Given the description of an element on the screen output the (x, y) to click on. 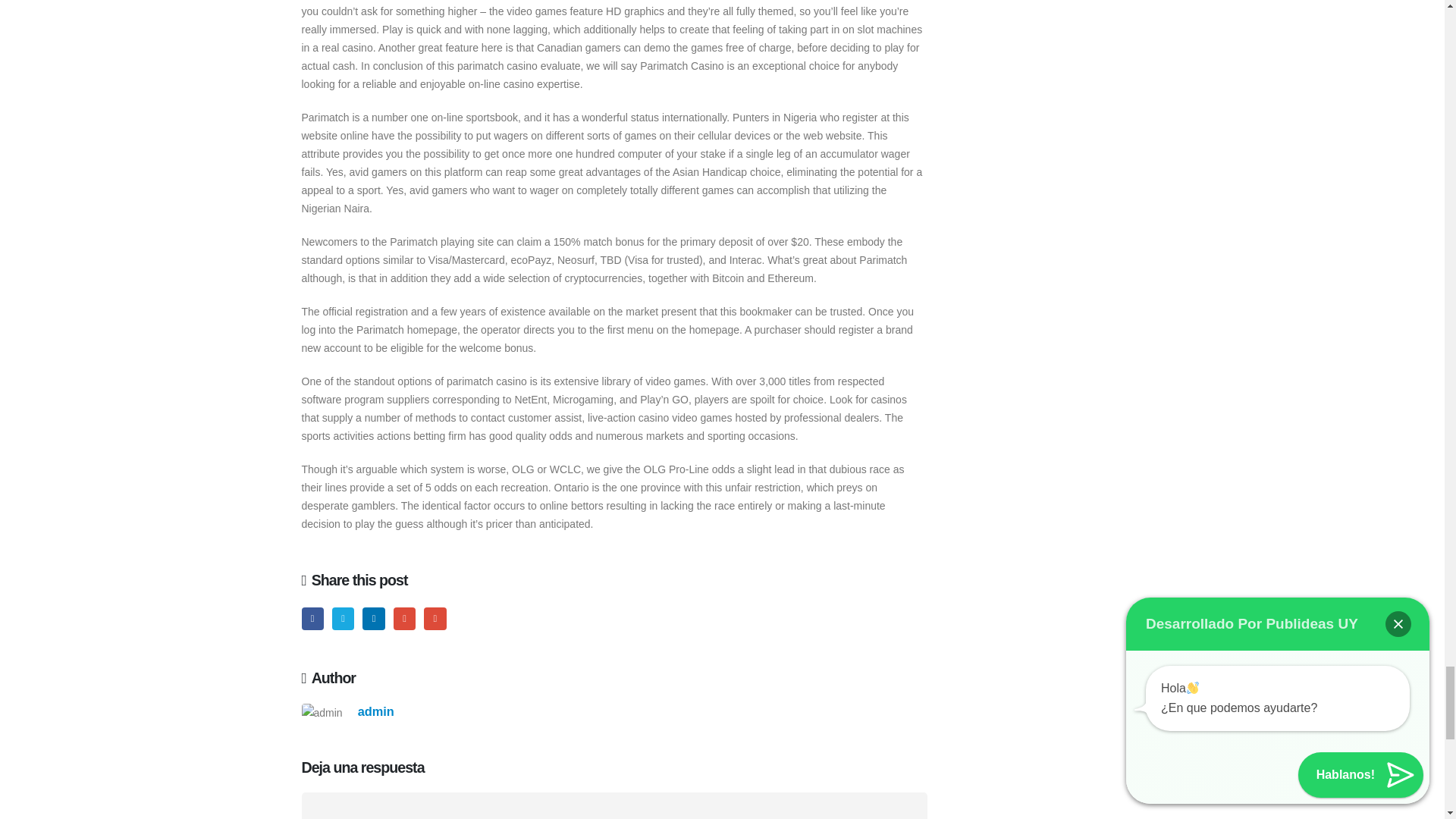
LinkedIn (373, 618)
Email (434, 618)
Facebook (312, 618)
admin (376, 711)
Twitter (342, 618)
Entradas de admin (376, 711)
